Given the description of an element on the screen output the (x, y) to click on. 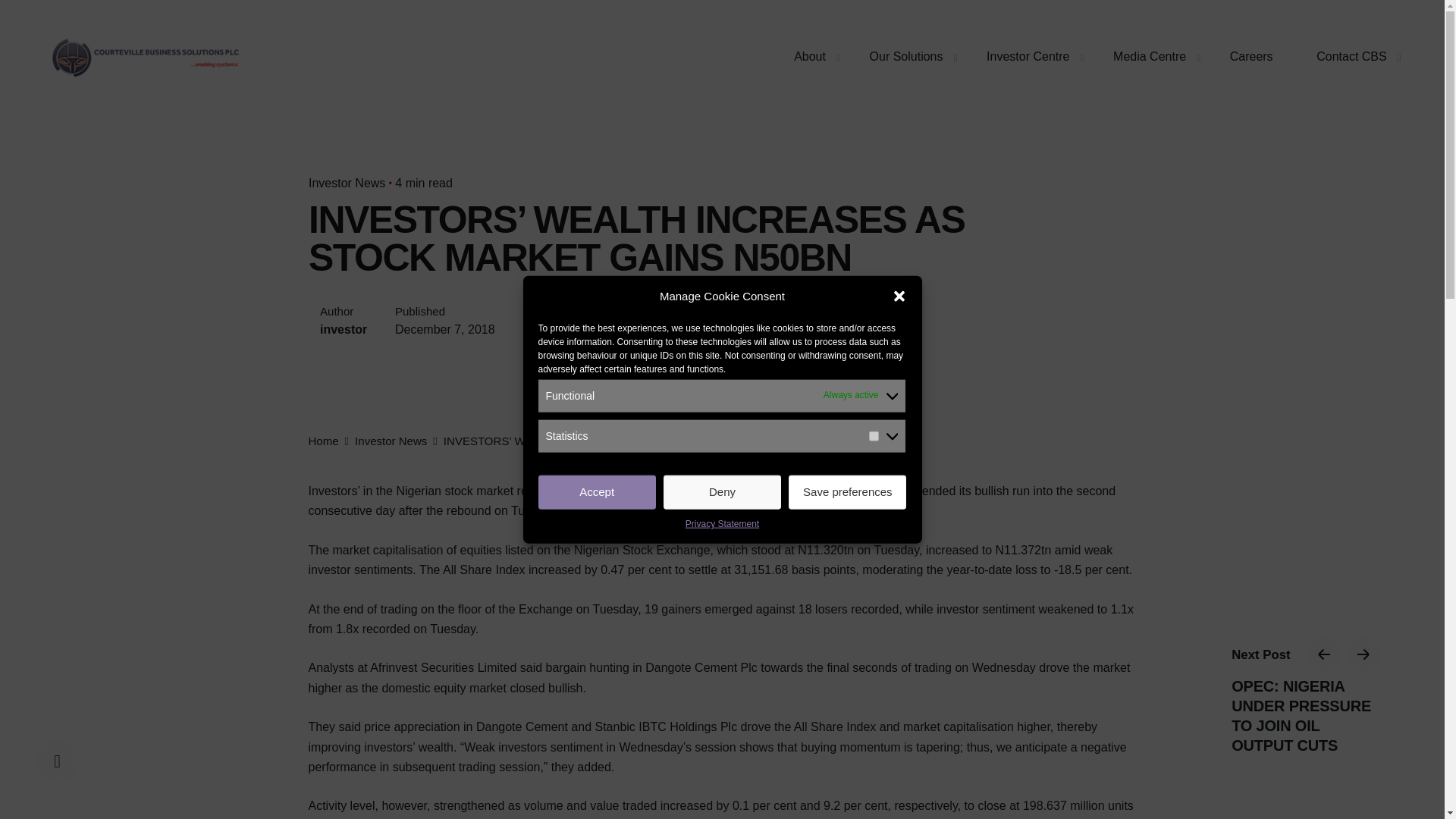
About (809, 57)
Our Solutions (906, 57)
1 (874, 436)
Deny (721, 492)
Save preferences (847, 492)
Accept (597, 492)
Privacy Statement (721, 524)
